Given the description of an element on the screen output the (x, y) to click on. 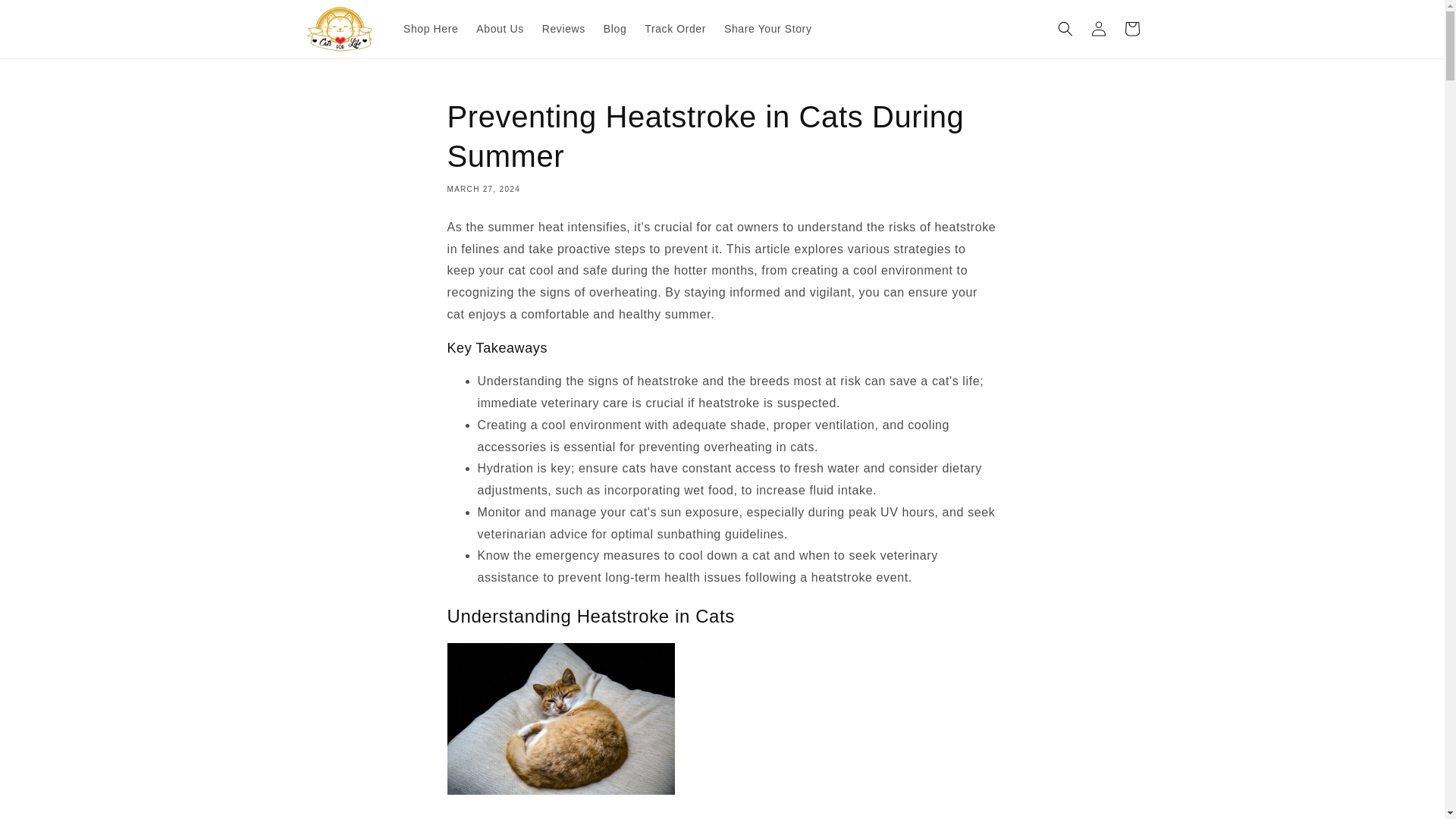
Log in (1098, 28)
Blog (614, 29)
Shop Here (430, 29)
Skip to content (45, 17)
Reviews (563, 29)
Track Order (674, 29)
About Us (499, 29)
Cart (1131, 28)
Share Your Story (767, 29)
